Given the description of an element on the screen output the (x, y) to click on. 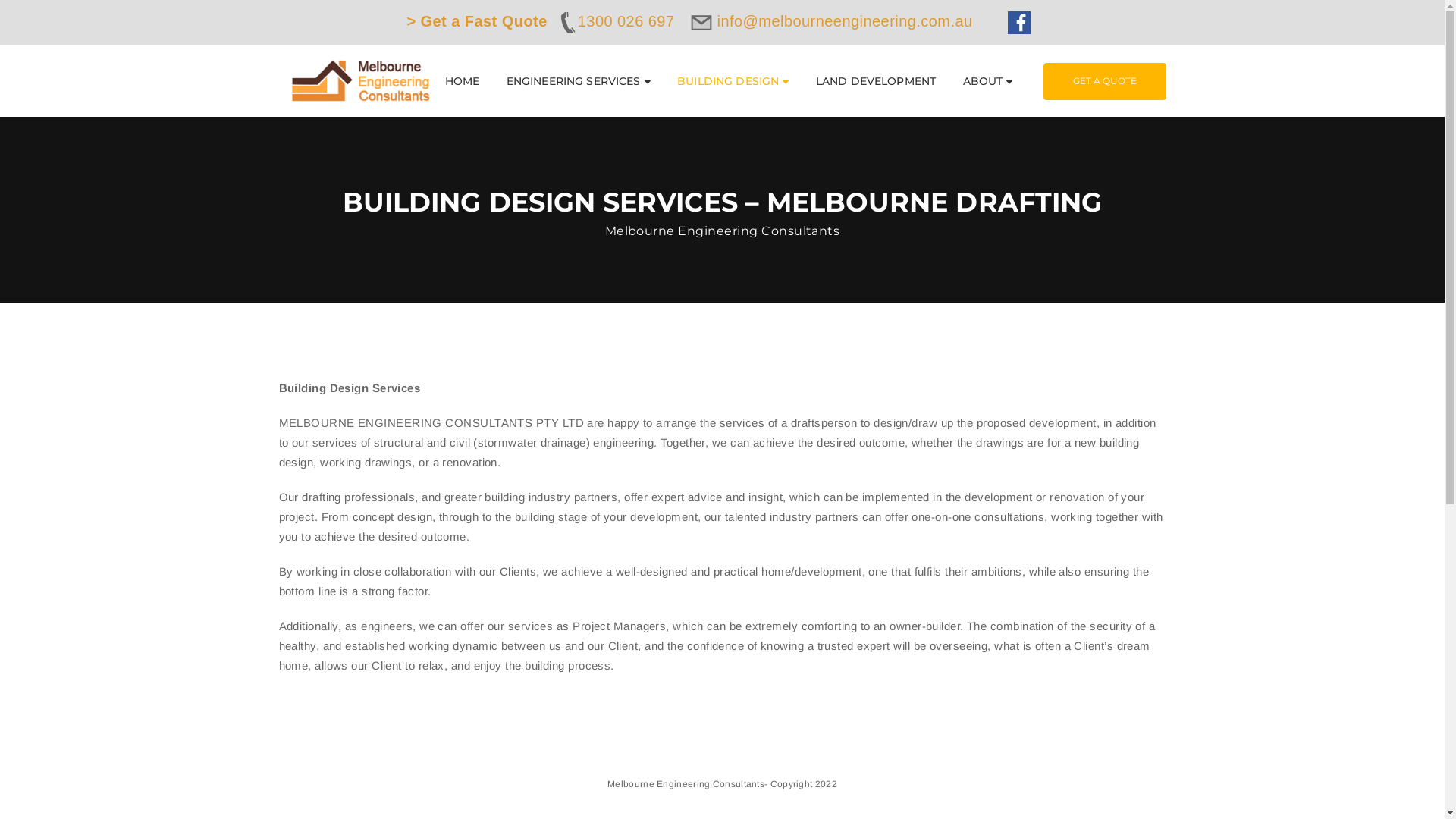
> Get a Fast Quote Element type: text (476, 20)
MEC Element type: hover (367, 436)
ABOUT Element type: text (988, 80)
Facebook Element type: hover (283, 693)
November 16, 2022 Element type: text (636, 610)
HOME Element type: text (462, 80)
1300 026 697 Element type: text (614, 20)
GET A QUOTE Element type: text (1104, 80)
BUILDING DESIGN Element type: text (732, 80)
LAND DEVELOPMENT Element type: text (875, 80)
December 7, 2022 Element type: text (633, 522)
GET A FREE QUOTE Element type: text (1091, 297)
ENGINEERING SERVICES Element type: text (578, 80)
info@melbourneengineering.com.au Element type: text (833, 20)
Blog Element type: text (978, 503)
Home Element type: text (981, 467)
About Element type: text (982, 539)
